Given the description of an element on the screen output the (x, y) to click on. 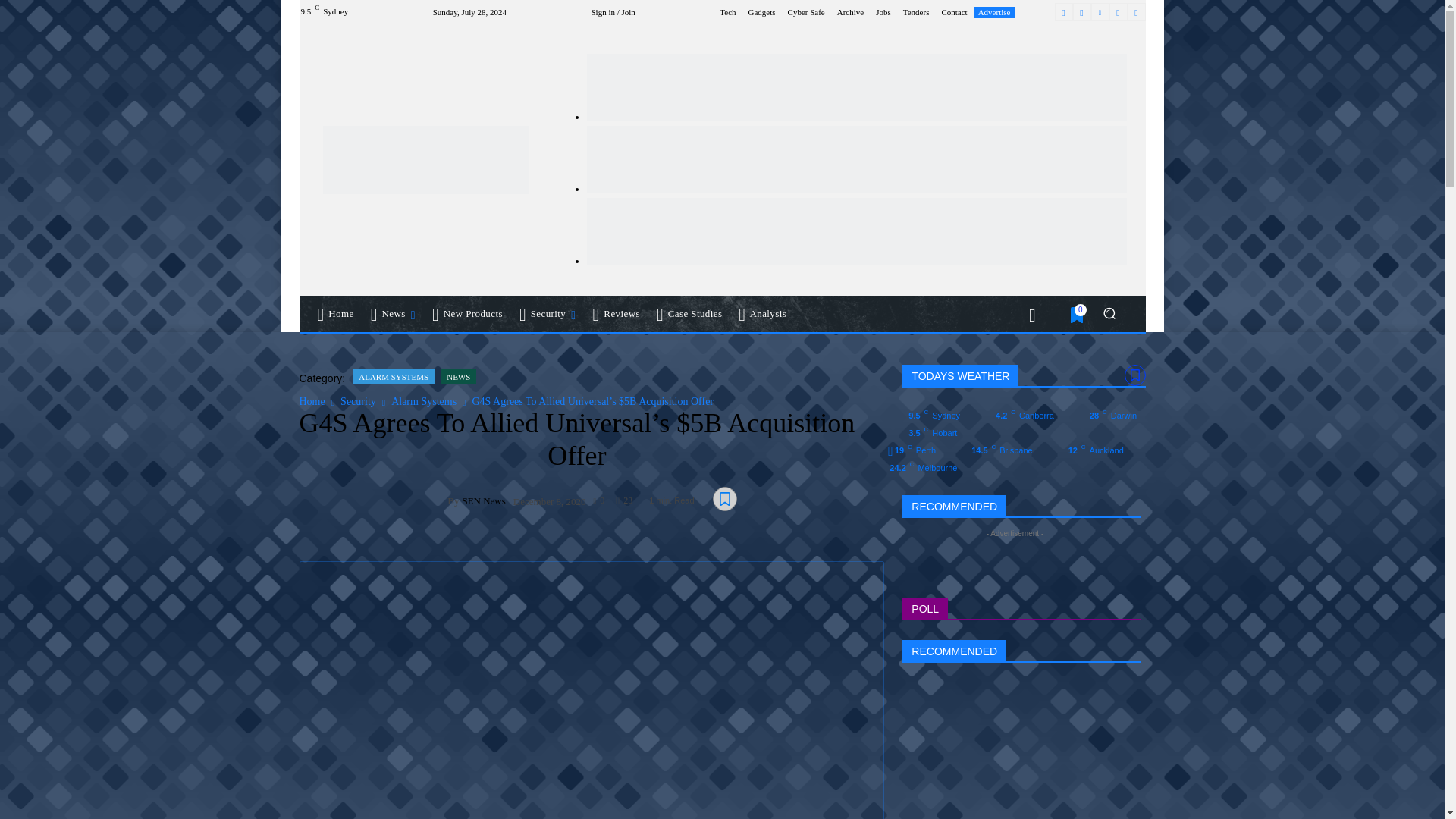
Home (335, 313)
Linkedin (1099, 12)
News (393, 313)
Contact (953, 11)
Tech (727, 11)
Archive (850, 11)
Cyber Safe (806, 11)
Tenders (916, 11)
Facebook (1062, 12)
Jobs (883, 11)
Instagram (1080, 12)
Gadgets (762, 11)
Advertise (993, 12)
